Given the description of an element on the screen output the (x, y) to click on. 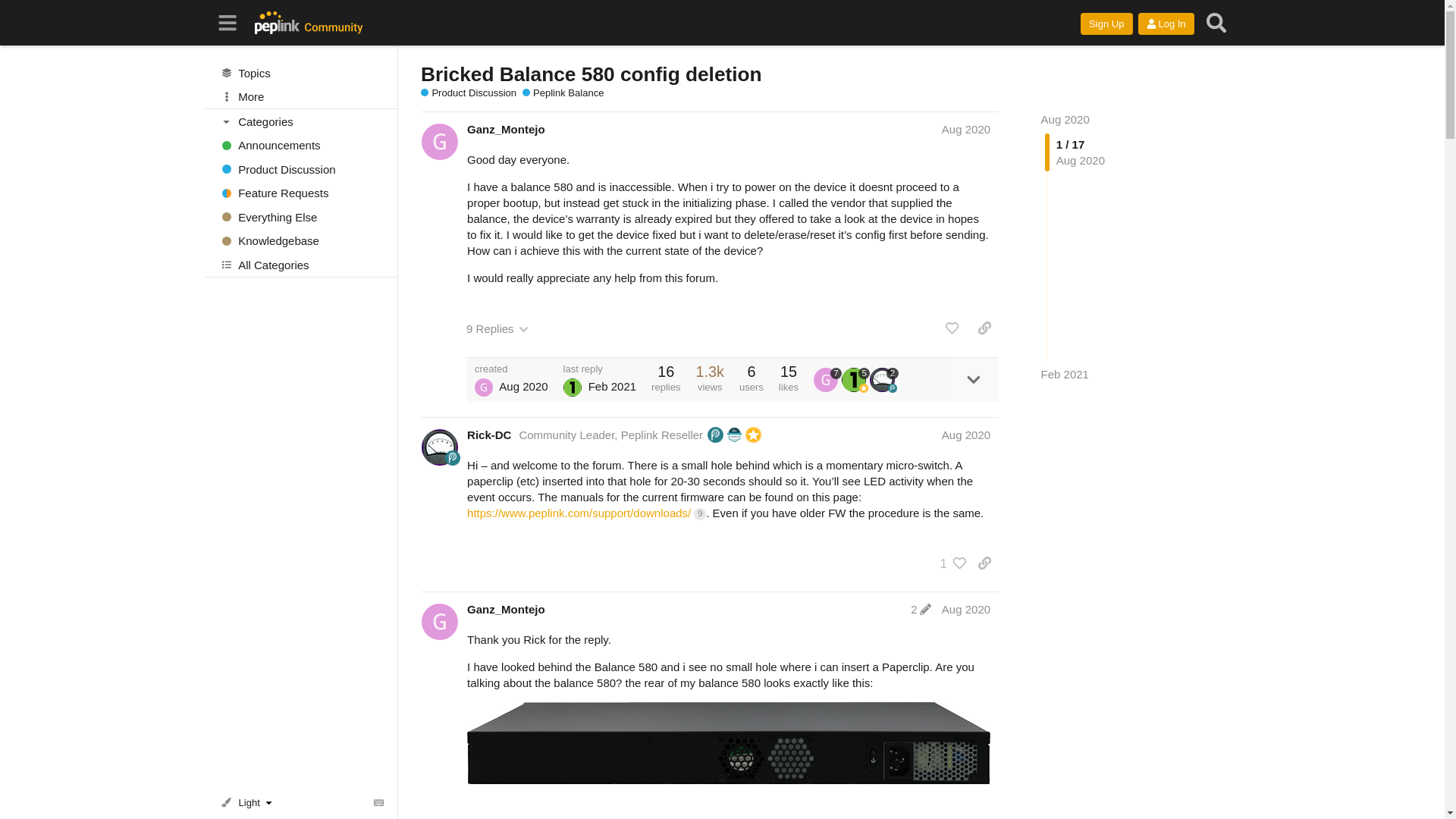
All Topics (301, 72)
Search (1215, 22)
Log In (1165, 24)
Keyboard Shortcuts (378, 802)
Product Discussion (468, 92)
Categories (301, 120)
Topics (301, 72)
Aug 2020 (1065, 119)
All Categories (301, 264)
Product Discussion (301, 168)
